Given the description of an element on the screen output the (x, y) to click on. 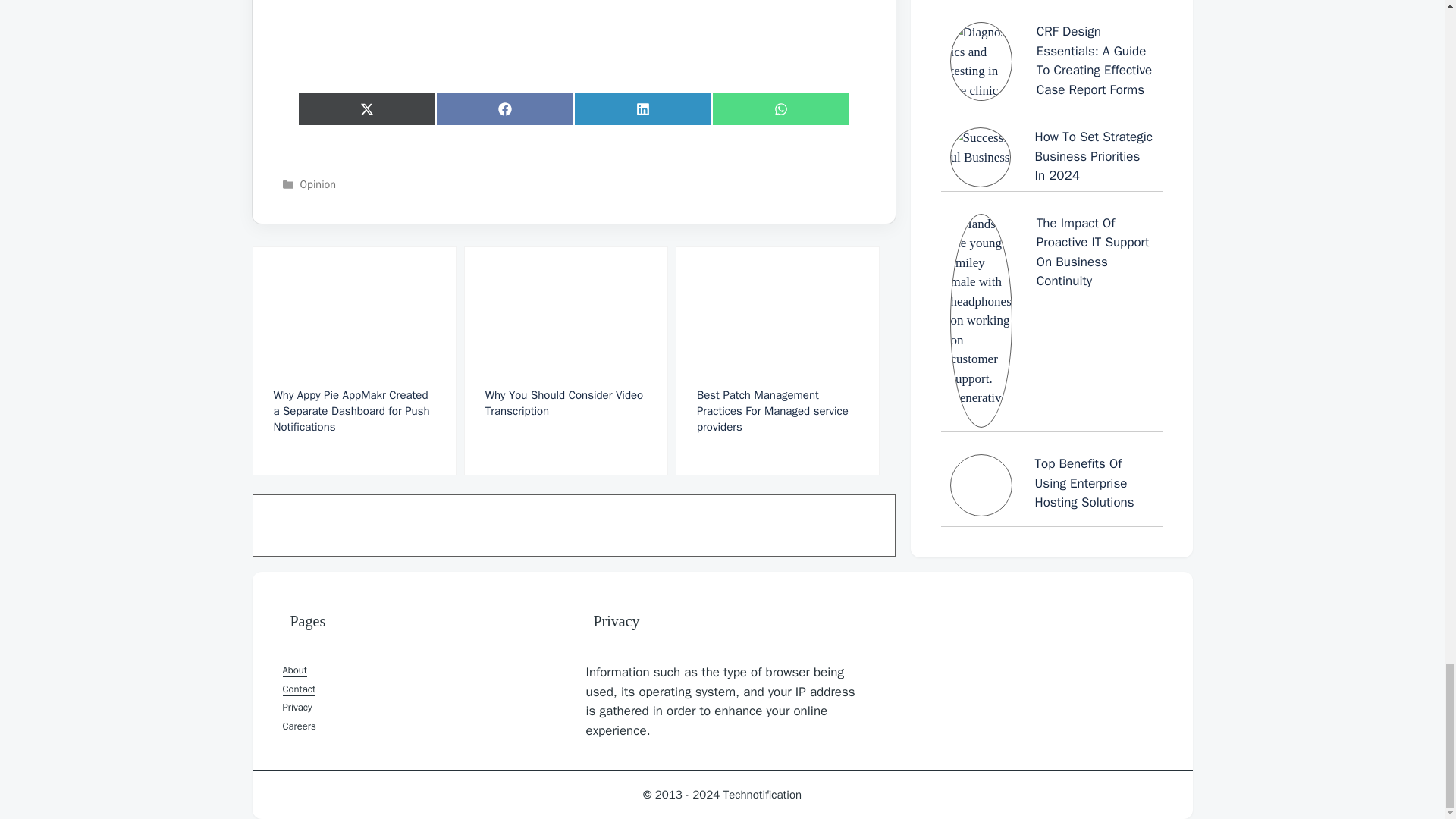
Why You Should Consider Video Transcription (566, 360)
